Given the description of an element on the screen output the (x, y) to click on. 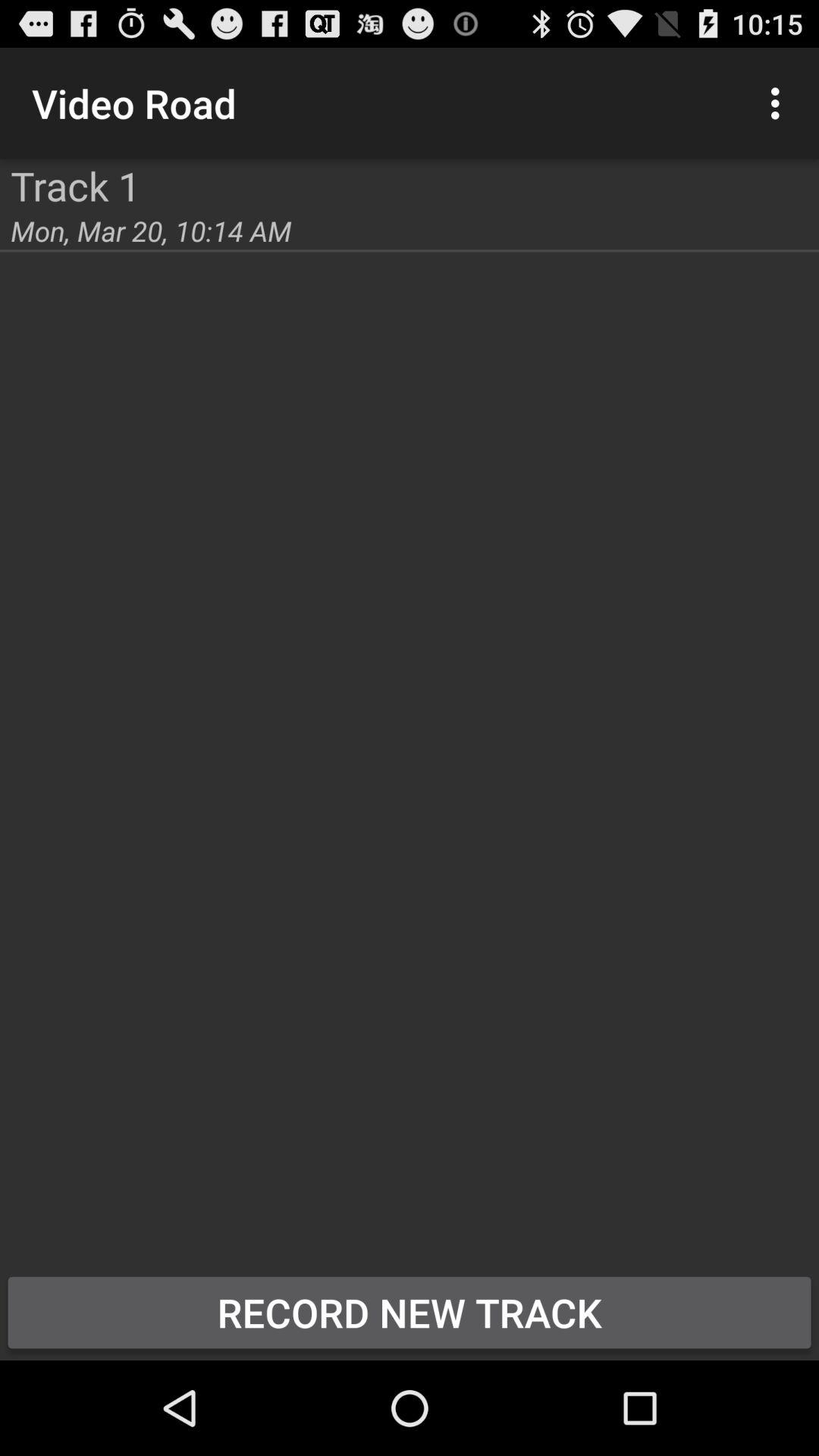
choose the track 1 item (75, 185)
